Given the description of an element on the screen output the (x, y) to click on. 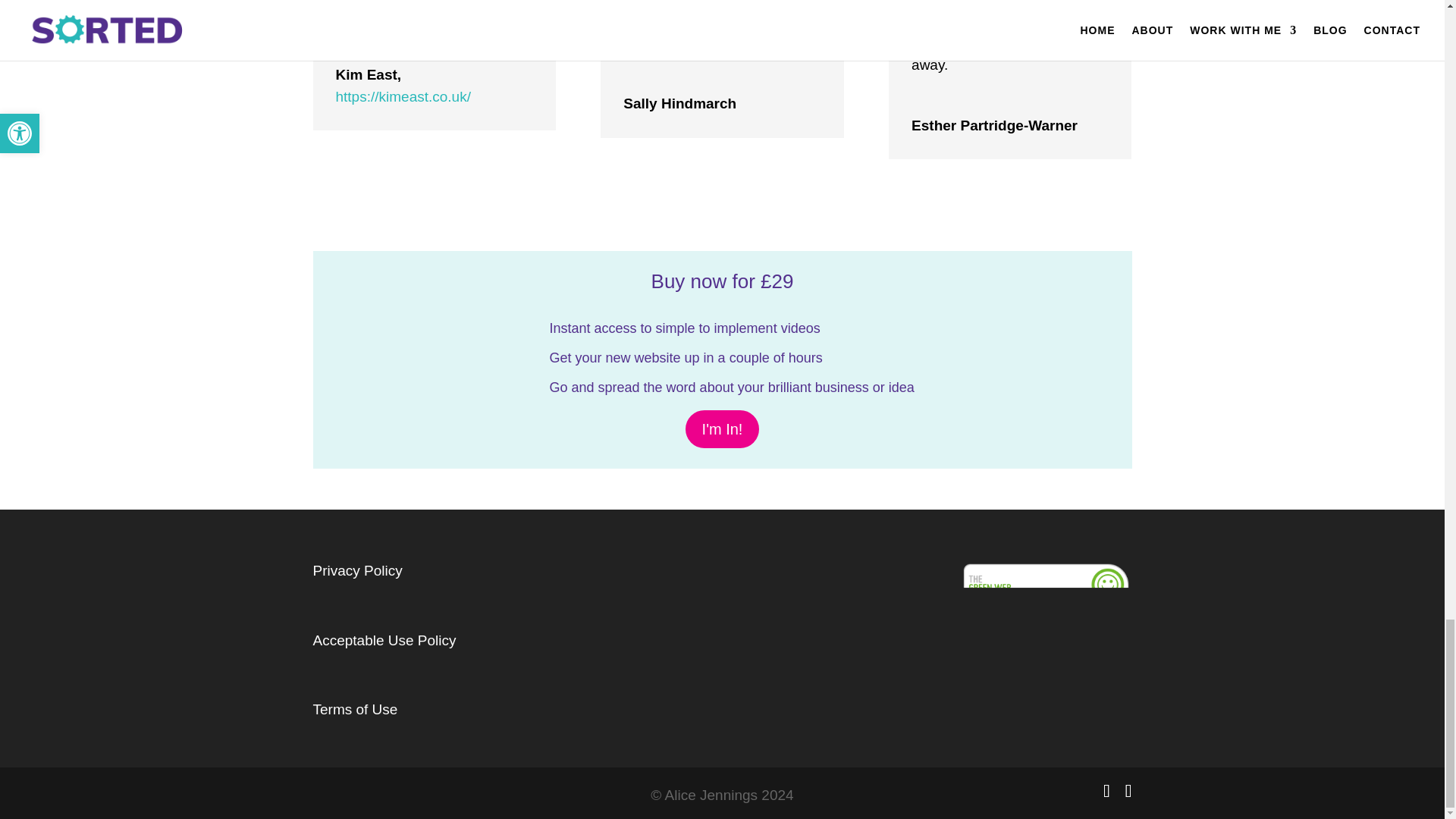
Acceptable Use Policy (384, 640)
Privacy Policy (357, 570)
Terms of Use (355, 709)
I'm In! (722, 428)
